Given the description of an element on the screen output the (x, y) to click on. 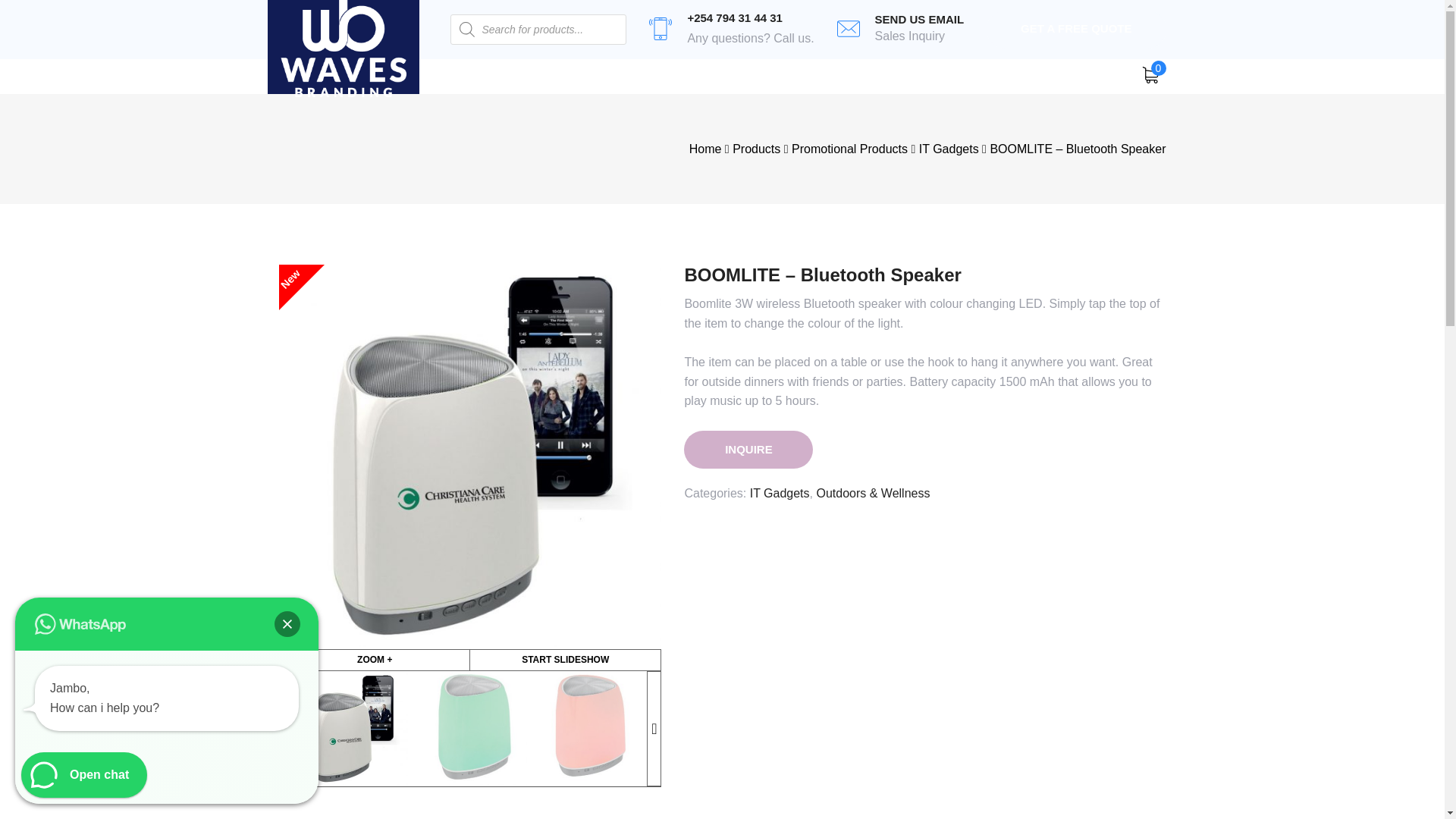
SHOP (818, 75)
Products (756, 148)
SEND US EMAIL (919, 19)
Close (166, 726)
BLOG (287, 623)
IT Gadgets (757, 75)
OUR PRODUCTS (948, 148)
Home (665, 75)
GET A FREE QUOTE (705, 148)
HOME (1076, 29)
IT Gadgets (485, 75)
ABOUT US (779, 492)
CONTACT US (748, 449)
